Given the description of an element on the screen output the (x, y) to click on. 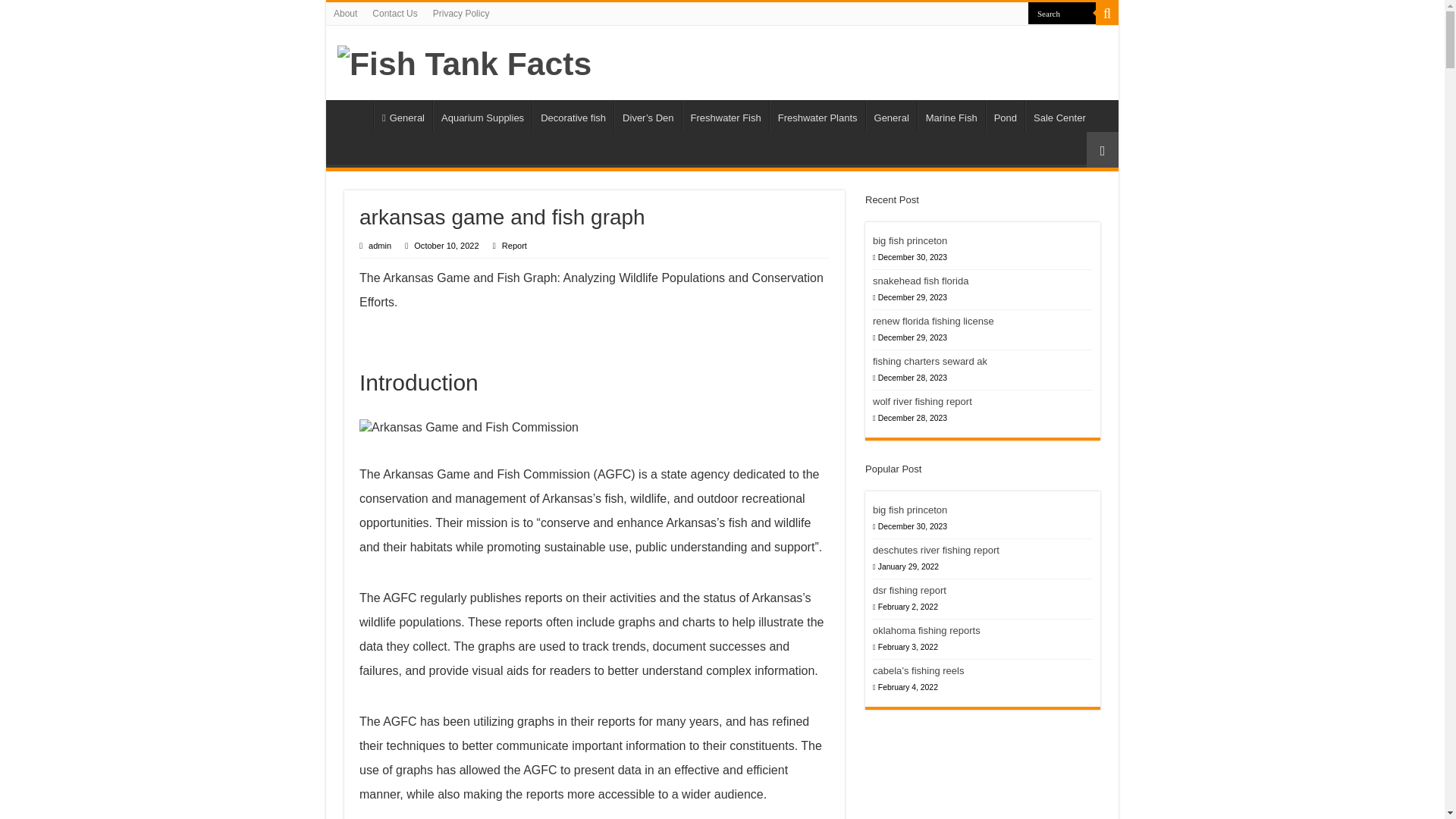
Search (1107, 13)
admin (379, 245)
Search (1061, 13)
HOME (352, 115)
Random Article (1102, 149)
Search (1061, 13)
Contact Us (395, 13)
Marine Fish (951, 115)
General (403, 115)
Pond (1005, 115)
Freshwater Fish (725, 115)
About (345, 13)
Privacy Policy (461, 13)
Decorative fish (572, 115)
General (891, 115)
